Given the description of an element on the screen output the (x, y) to click on. 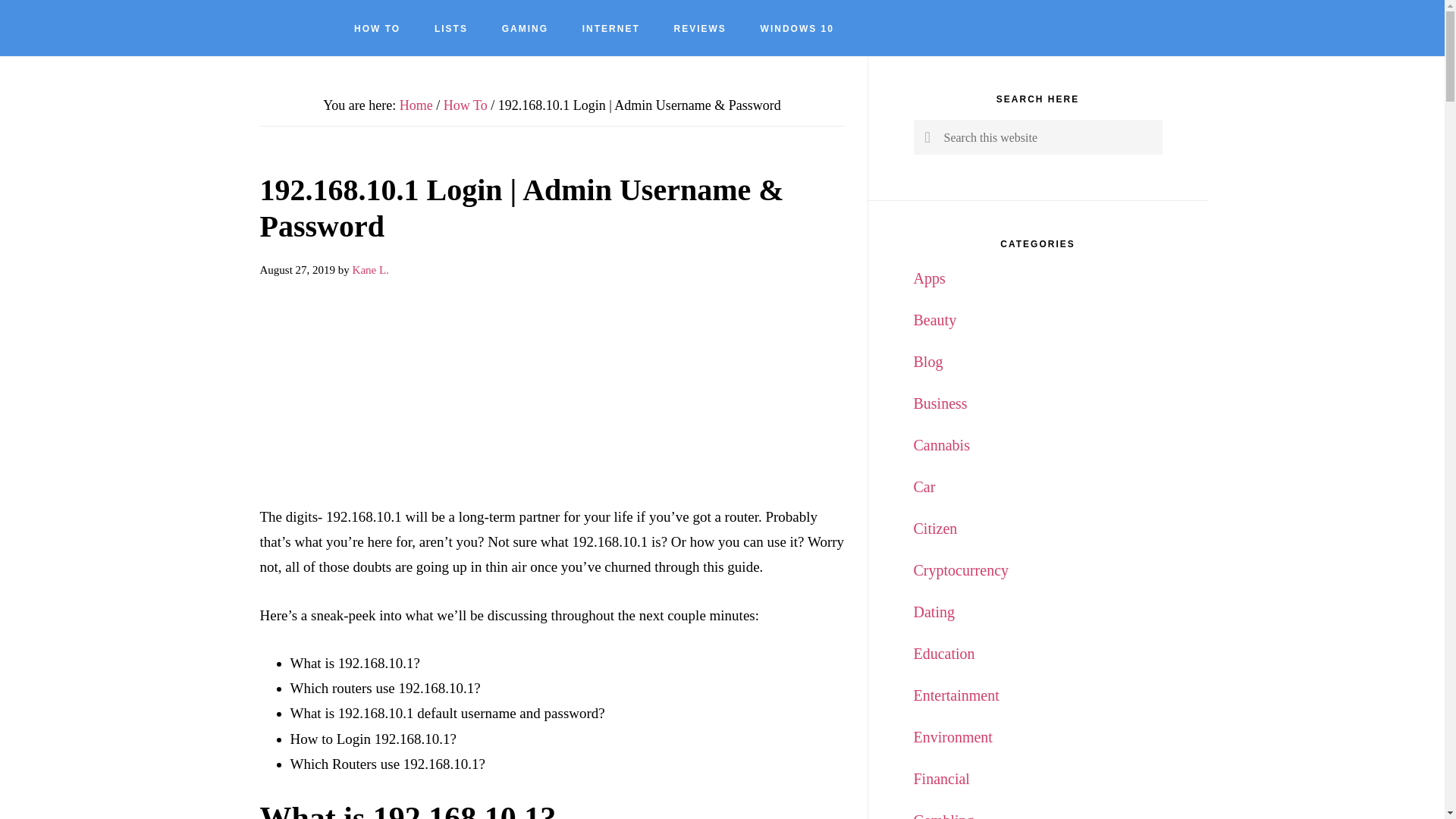
Environment (951, 736)
GAMING (524, 28)
Car (923, 486)
How To (465, 105)
Dating (932, 611)
WINDOWS 10 (796, 28)
Apps (928, 278)
Business (939, 402)
Entertainment (955, 695)
Education (943, 653)
RICHANNEL (98, 26)
Kane L. (370, 269)
Cryptocurrency (960, 569)
REVIEWS (700, 28)
